Given the description of an element on the screen output the (x, y) to click on. 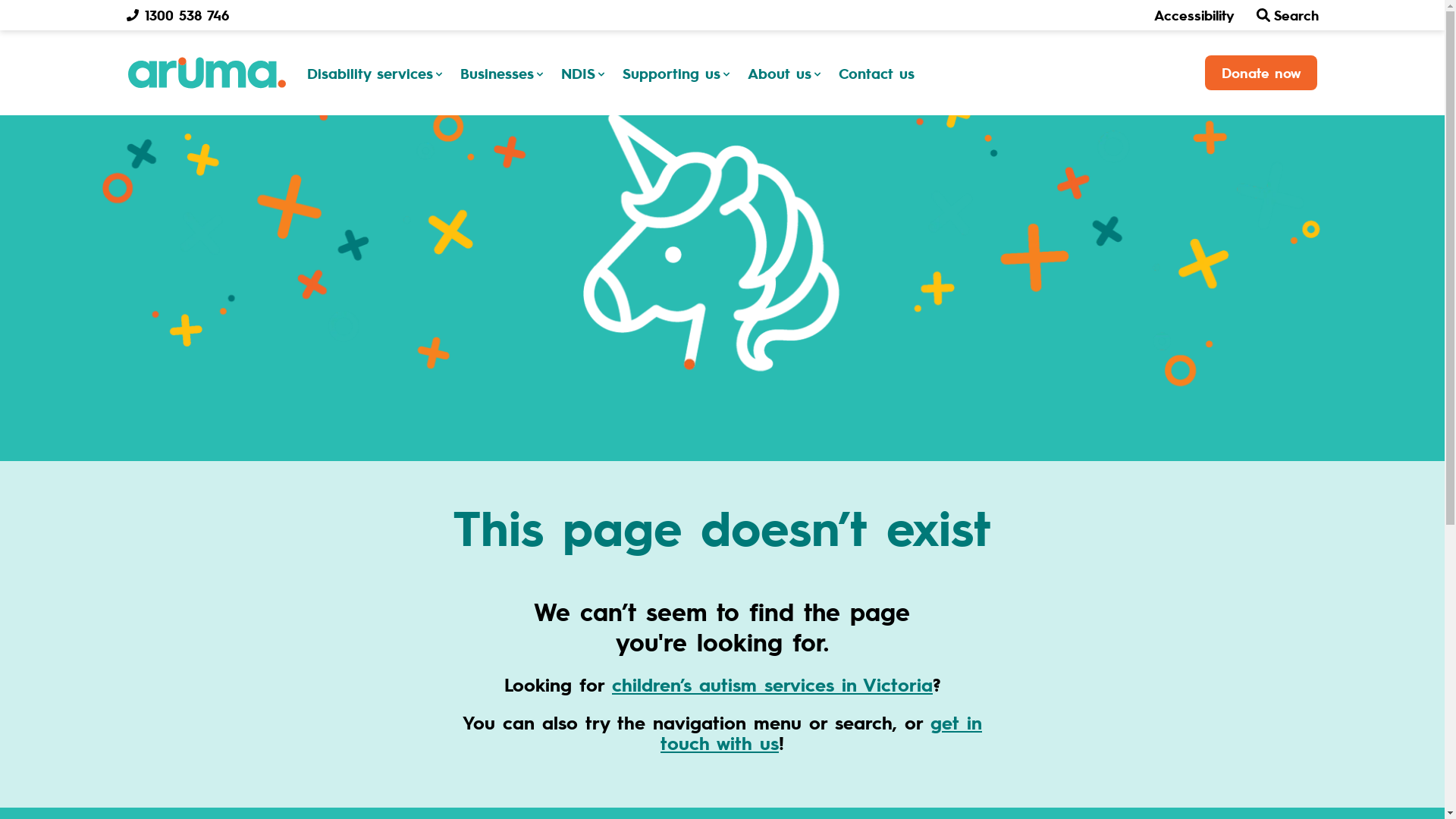
1300 538 746 Element type: text (176, 15)
get in touch with us Element type: text (821, 731)
Supporting us Element type: text (677, 72)
Donate now Element type: text (1260, 72)
Contact us Element type: text (876, 72)
Search Element type: text (1286, 15)
NDIS Element type: text (585, 72)
Businesses Element type: text (503, 72)
Accessibility Element type: text (1194, 15)
Disability services Element type: text (376, 72)
About us Element type: text (786, 72)
